Given the description of an element on the screen output the (x, y) to click on. 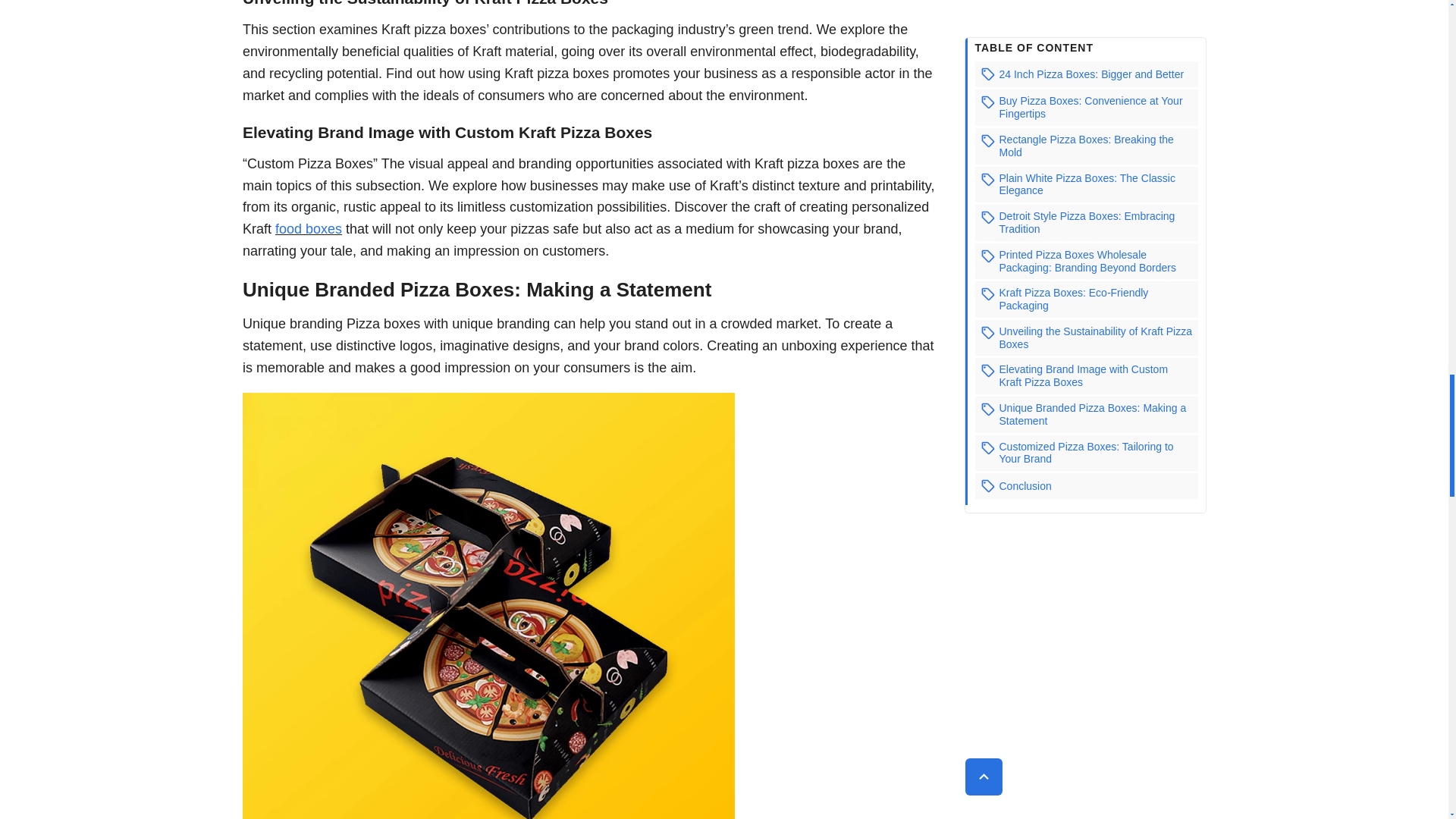
food boxes (308, 228)
